Given the description of an element on the screen output the (x, y) to click on. 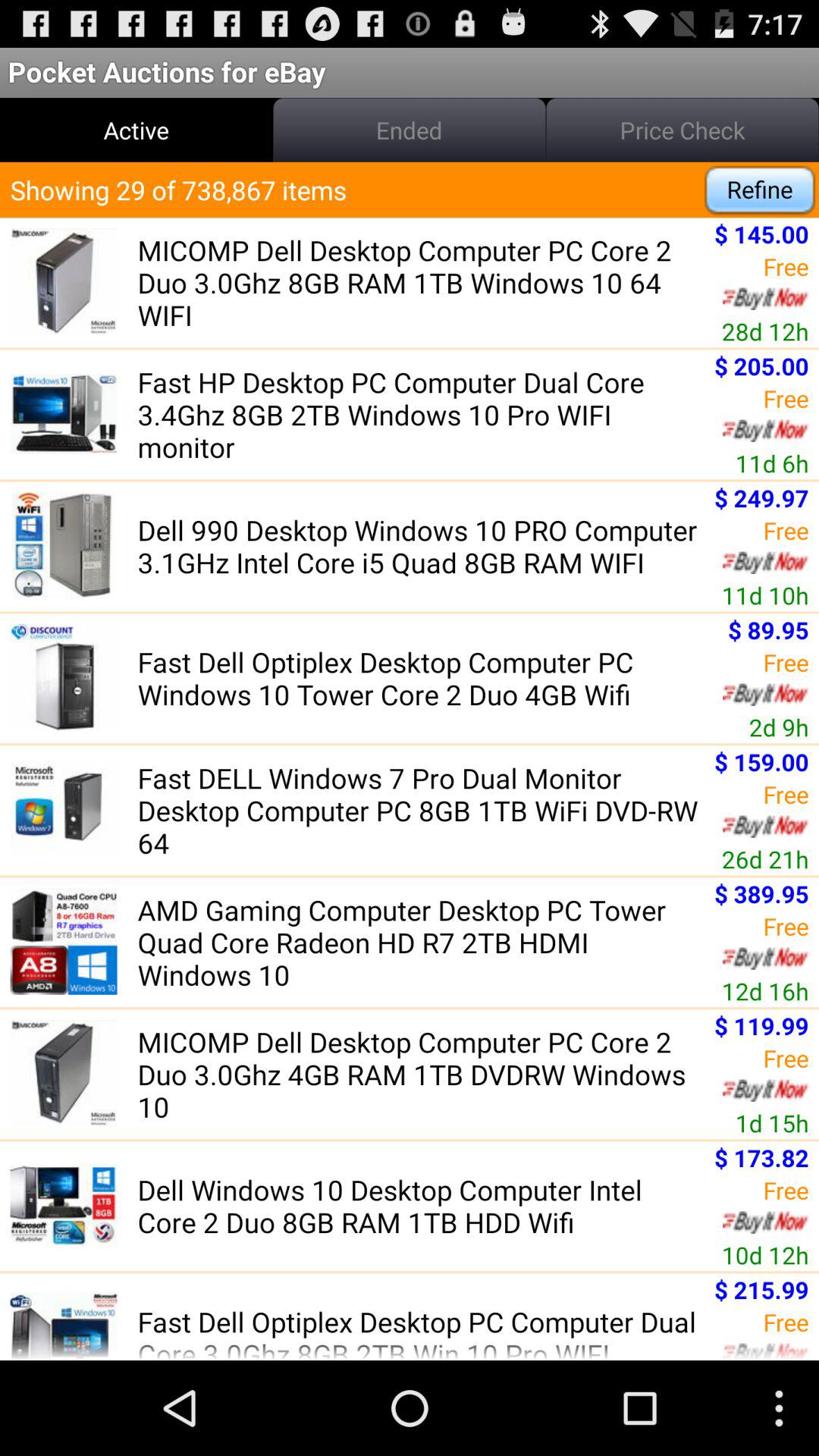
open icon to the right of the fast hp desktop app (771, 463)
